Given the description of an element on the screen output the (x, y) to click on. 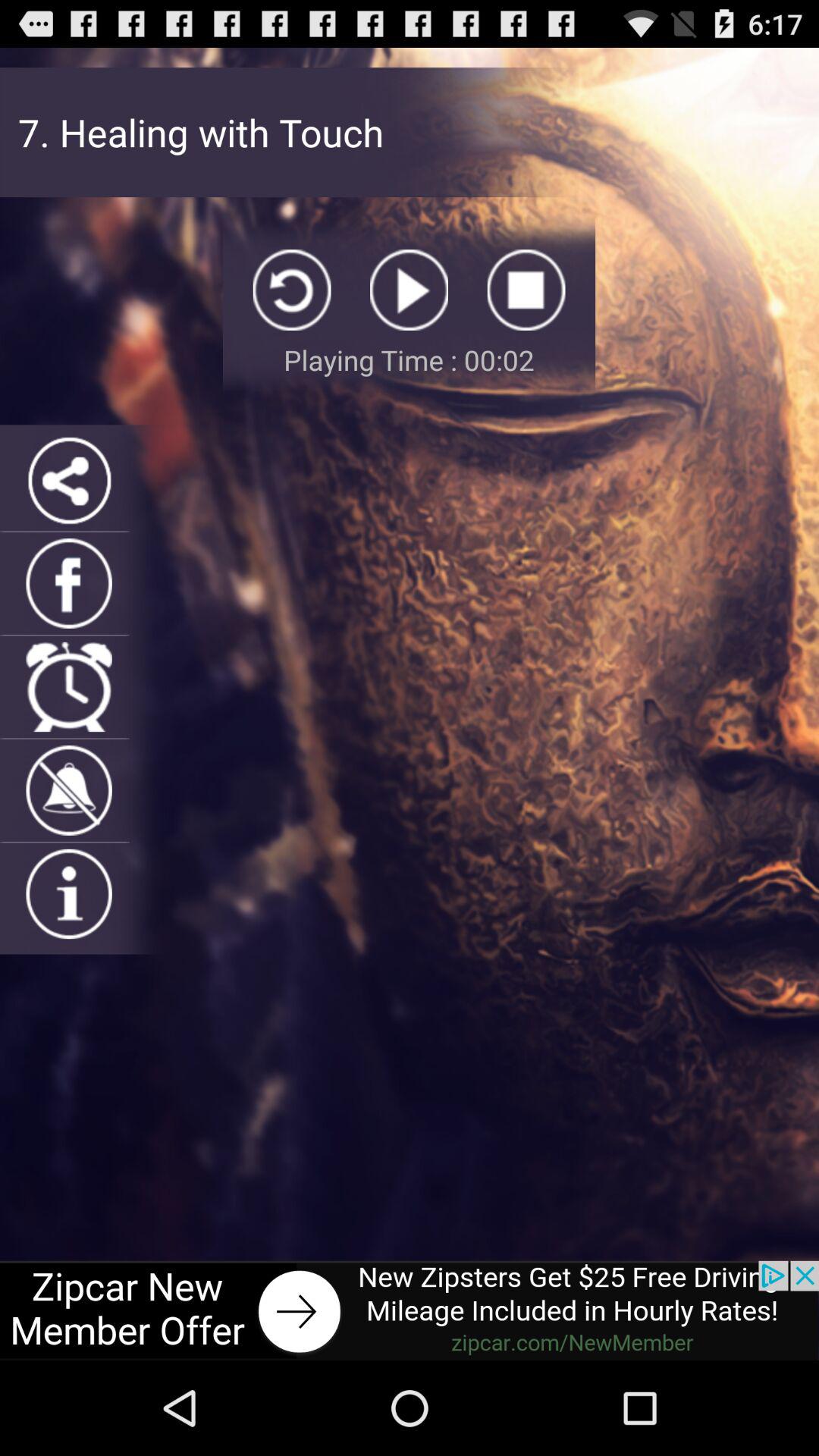
playing the all (409, 289)
